Given the description of an element on the screen output the (x, y) to click on. 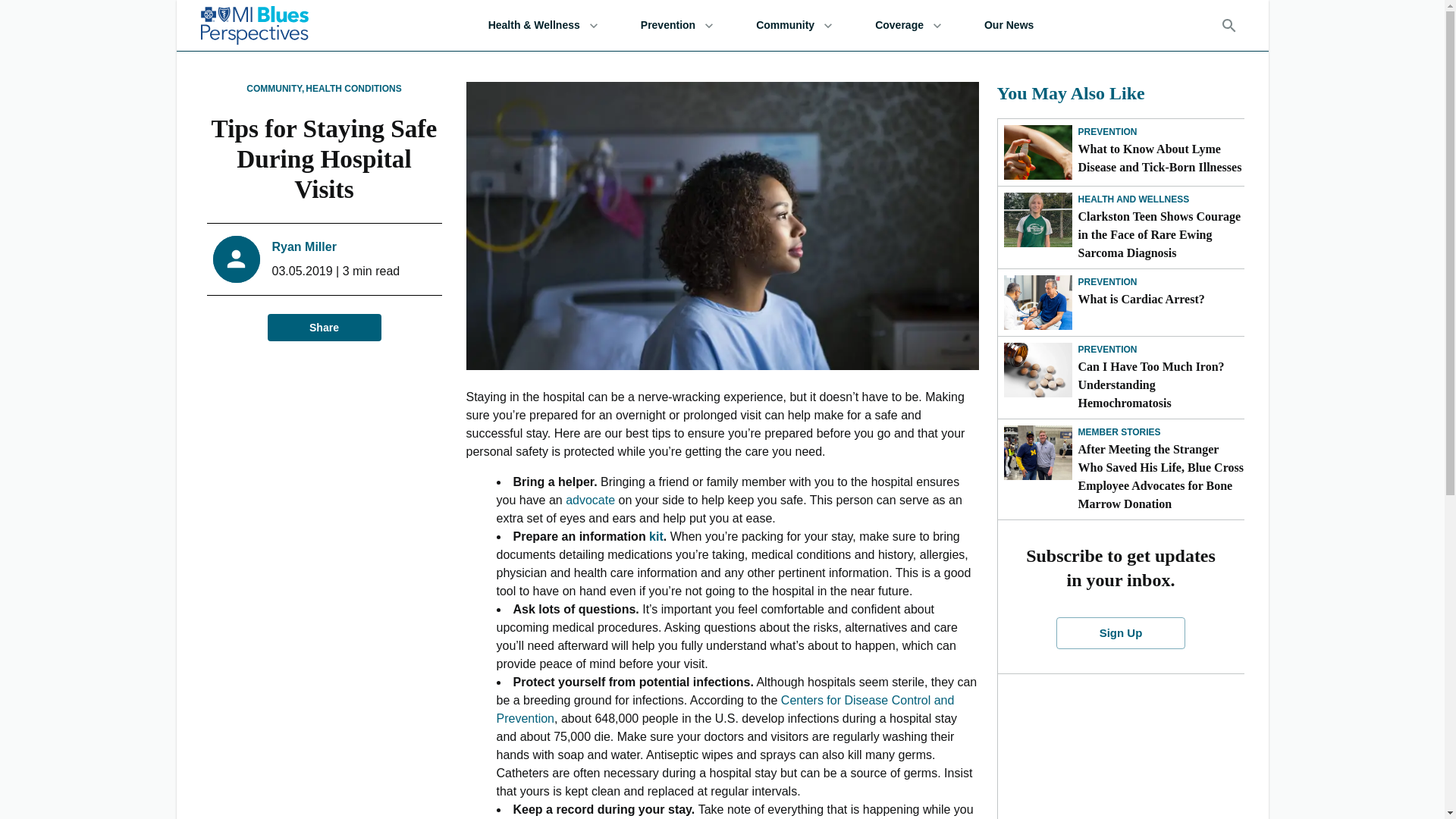
kit (656, 535)
PREVENTION (1107, 349)
advocate (590, 499)
PREVENTION (1107, 282)
PREVENTION (1107, 131)
What is Cardiac Arrest? (1161, 299)
HEALTH CONDITIONS (353, 88)
HEALTH AND WELLNESS (1133, 199)
Community (793, 25)
